Given the description of an element on the screen output the (x, y) to click on. 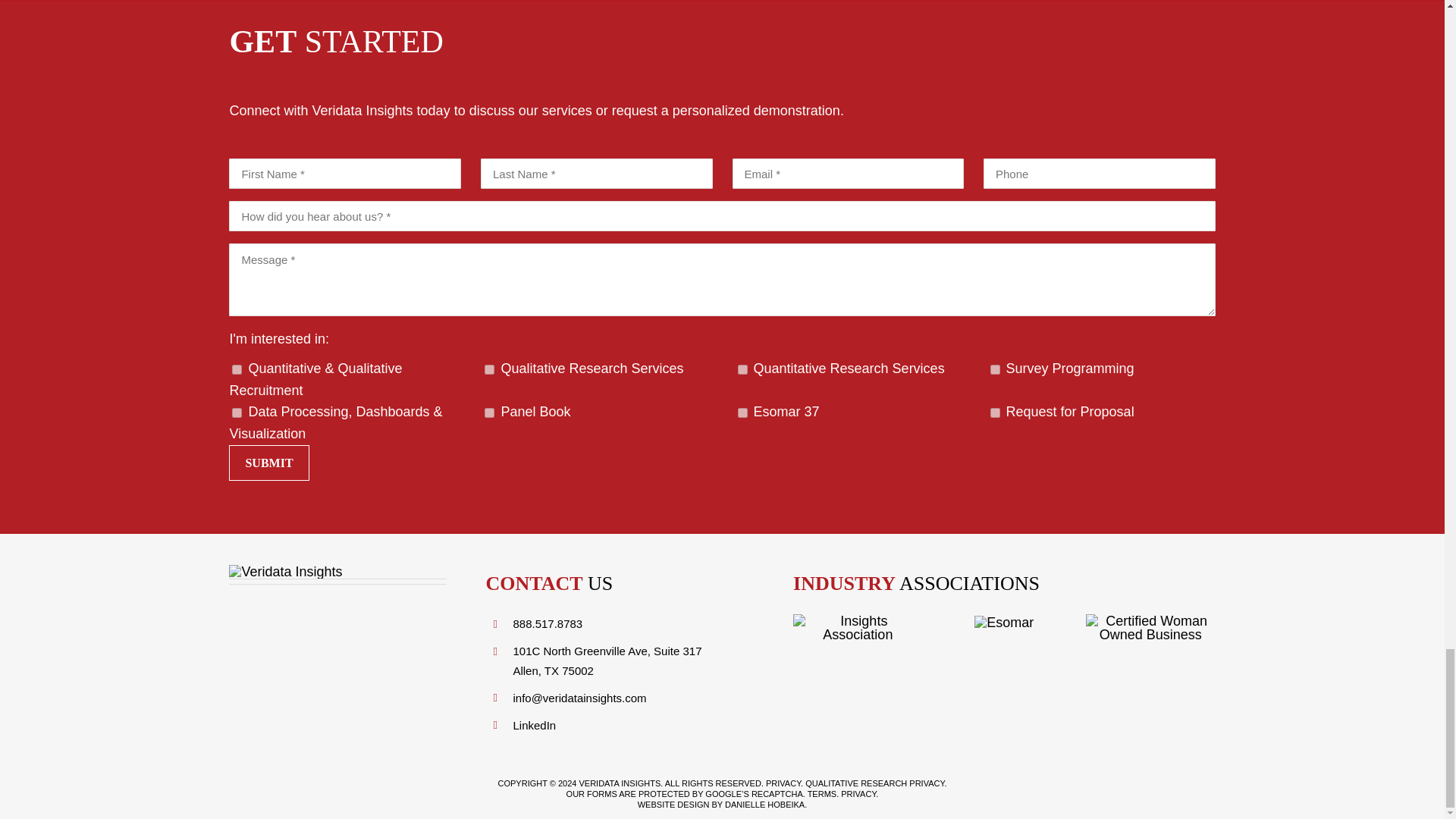
Panel Book (489, 412)
Request for Proposal (995, 412)
Insights Association (858, 627)
Esomar (1003, 622)
Qualitative Research Services (489, 369)
Esomar 37 (741, 412)
Certified Woman Owned Business (1150, 627)
Survey Programming (995, 369)
Quantitative Research Services (741, 369)
Submit (268, 462)
